Given the description of an element on the screen output the (x, y) to click on. 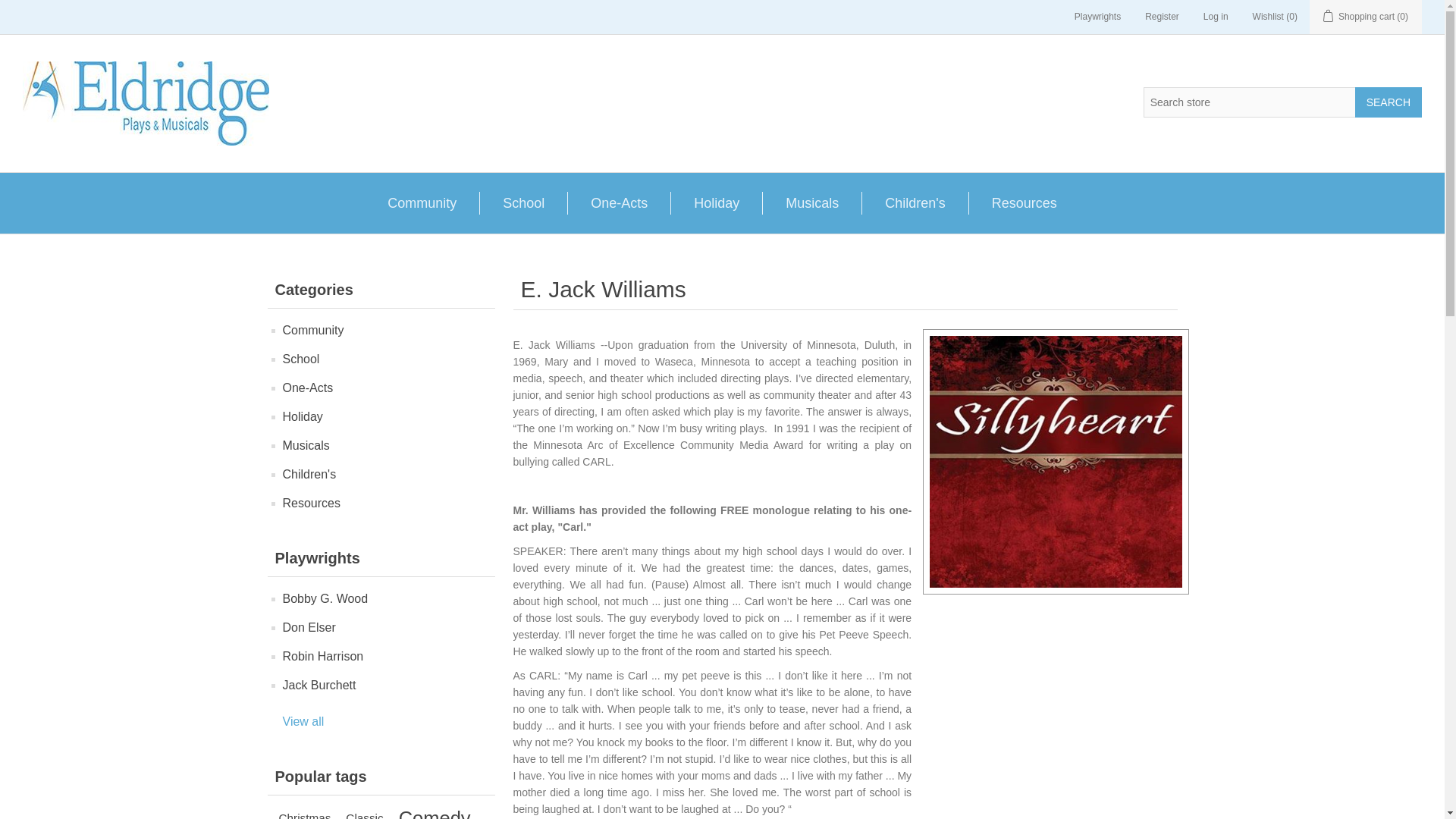
School (523, 202)
Holiday (715, 202)
Community (422, 202)
Children's (914, 202)
Musicals (811, 202)
Search (1388, 101)
Register (1161, 17)
Search (1388, 101)
Search (1388, 101)
One-Acts (619, 202)
Playwrights (1097, 17)
